Given the description of an element on the screen output the (x, y) to click on. 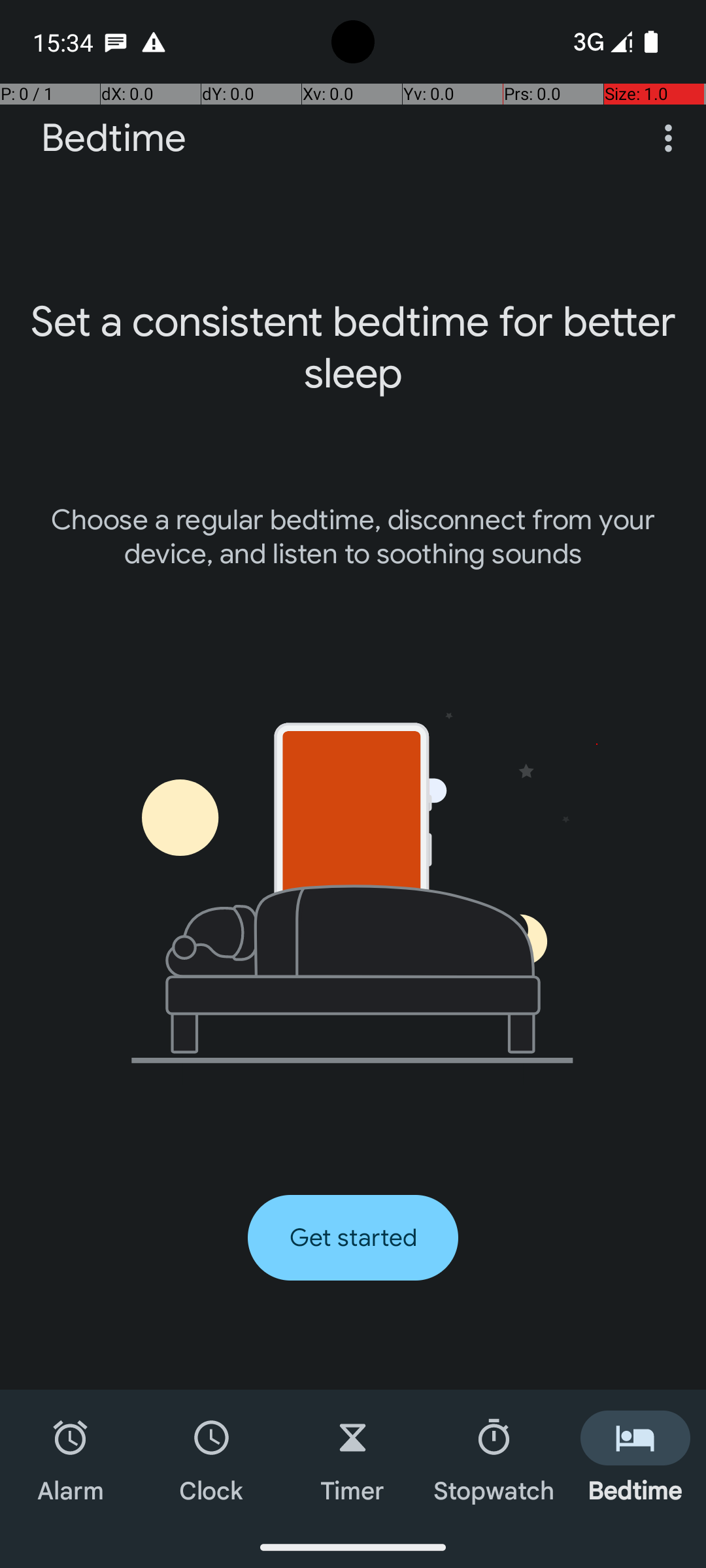
Set a consistent bedtime for better sleep Element type: android.widget.TextView (352, 347)
Choose a regular bedtime, disconnect from your device, and listen to soothing sounds Element type: android.widget.TextView (352, 536)
